Given the description of an element on the screen output the (x, y) to click on. 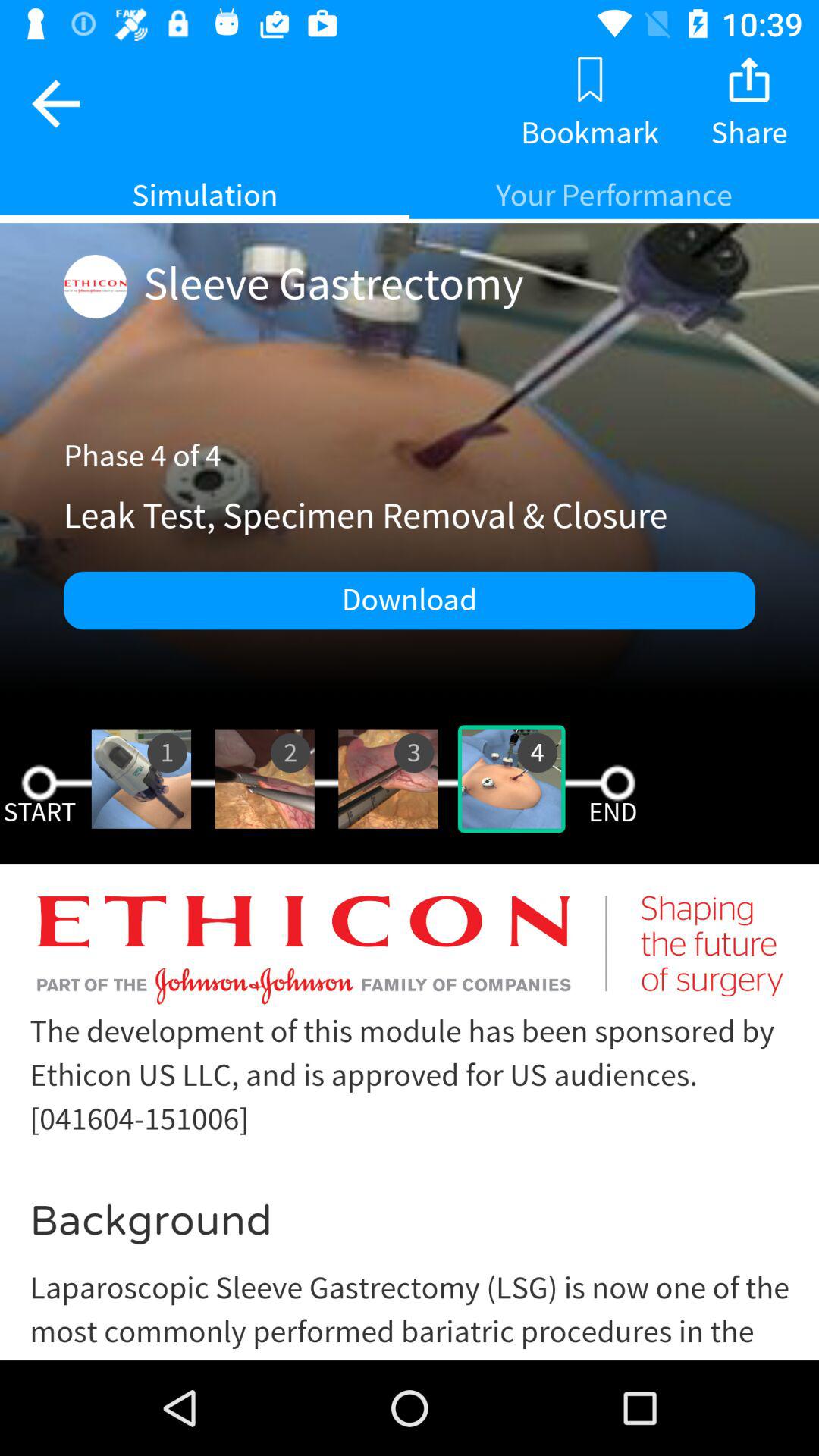
more information (409, 1124)
